Given the description of an element on the screen output the (x, y) to click on. 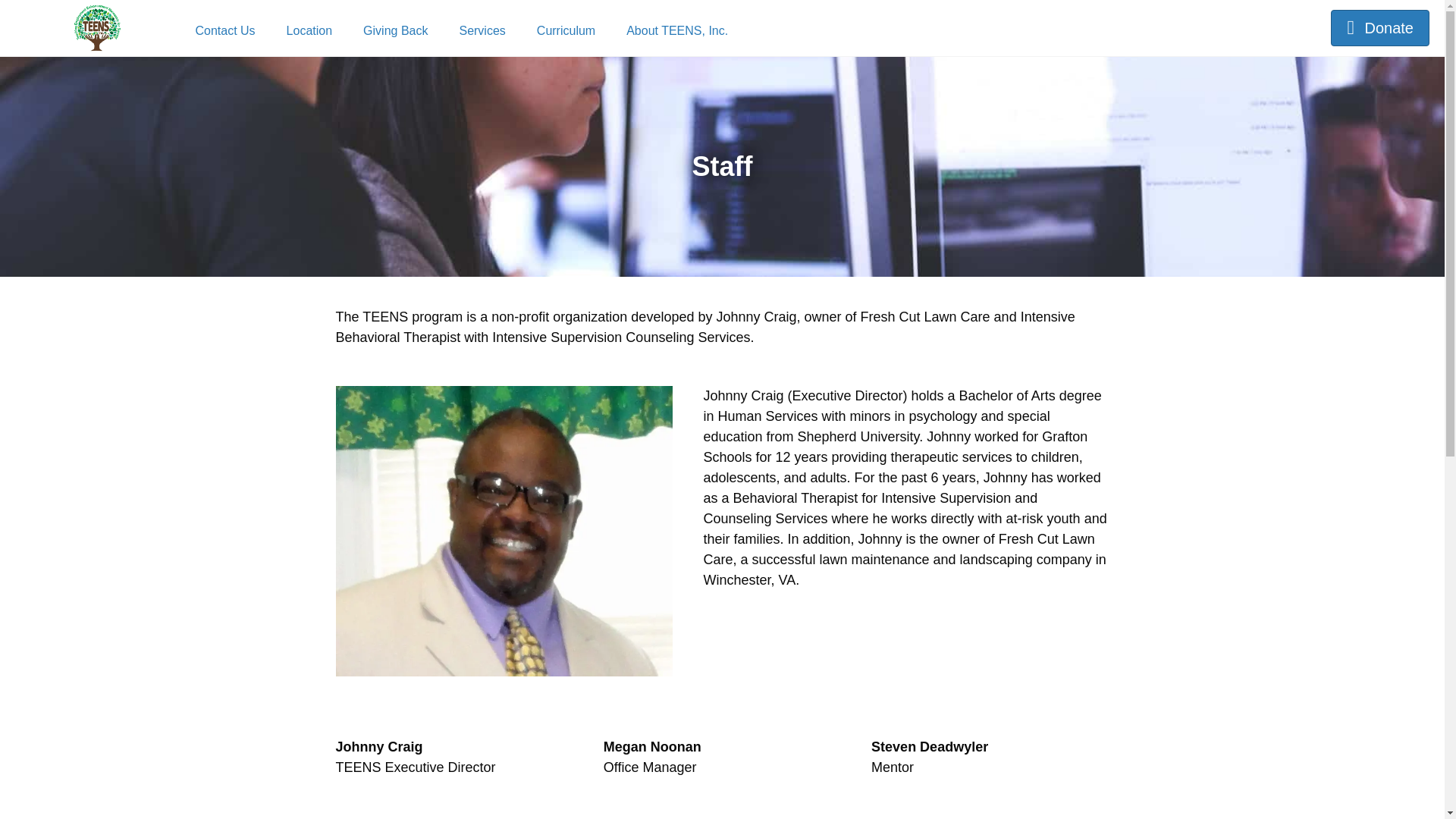
Location (308, 31)
Johnny-1 (503, 529)
Curriculum (565, 31)
Services (481, 31)
Donate (1379, 27)
Giving Back (394, 31)
About TEENS, Inc. (676, 31)
New Logo (97, 27)
Contact Us (224, 31)
